Given the description of an element on the screen output the (x, y) to click on. 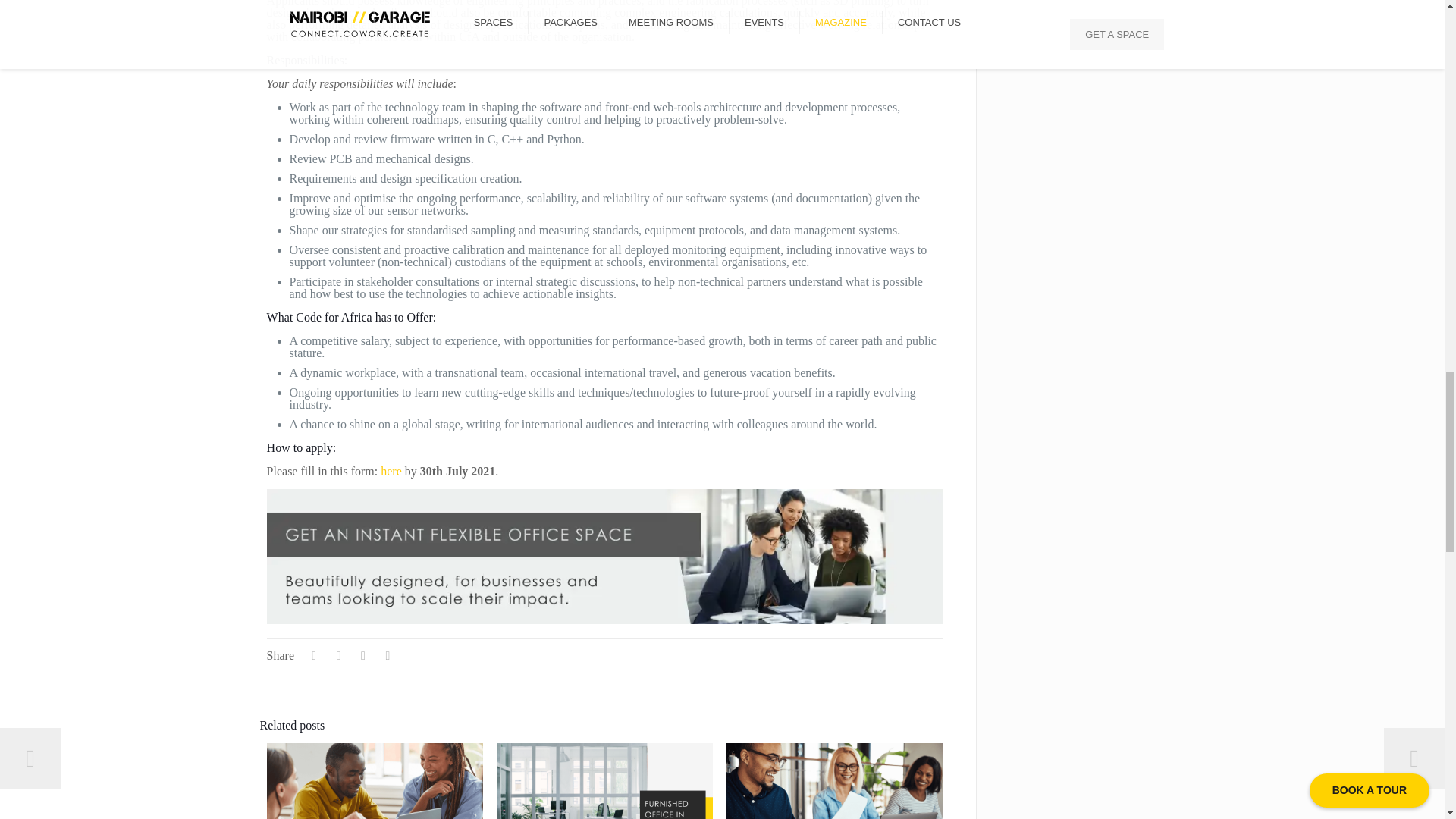
here  (392, 471)
